Given the description of an element on the screen output the (x, y) to click on. 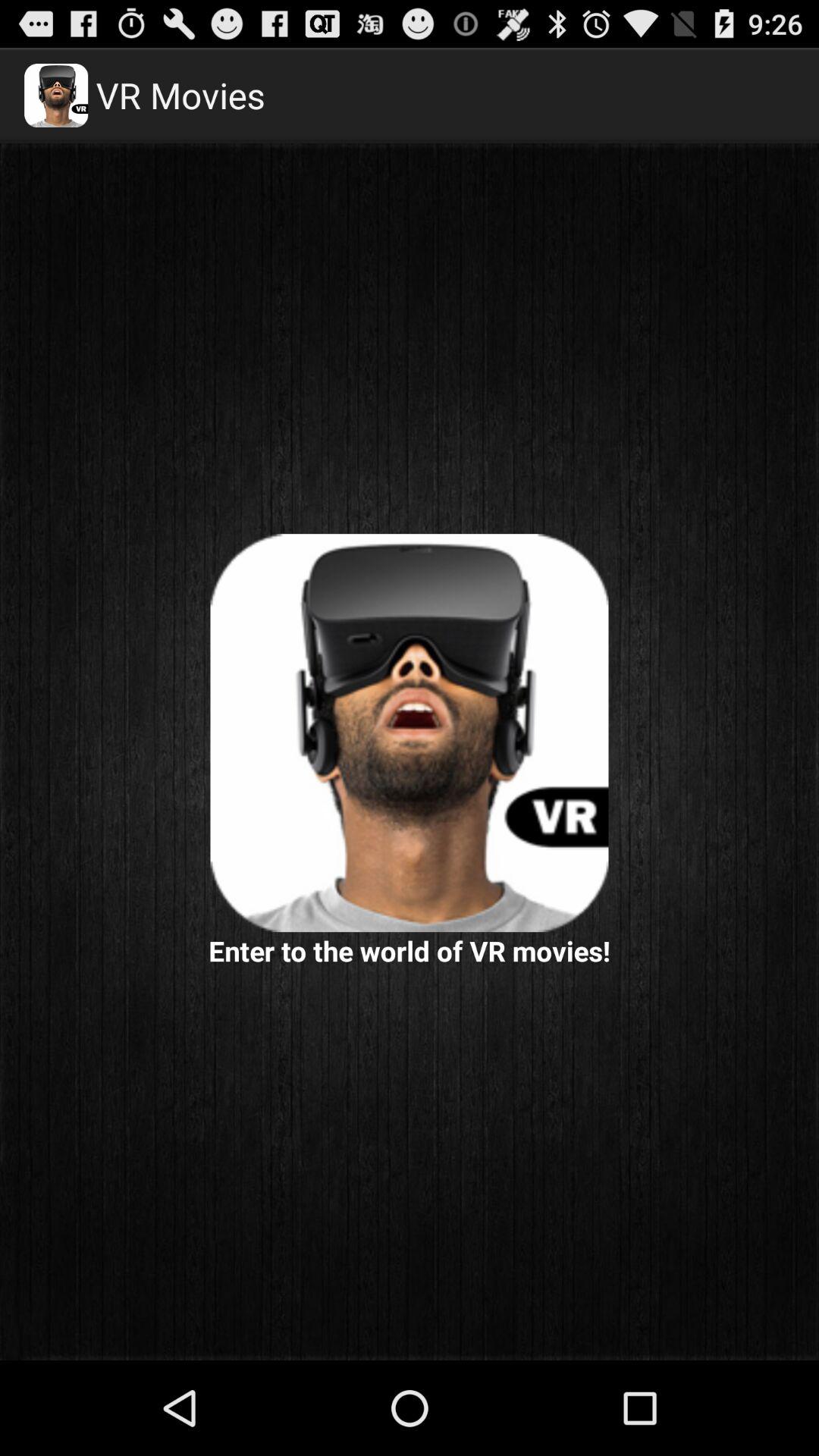
click the app above the enter to the app (409, 733)
